Given the description of an element on the screen output the (x, y) to click on. 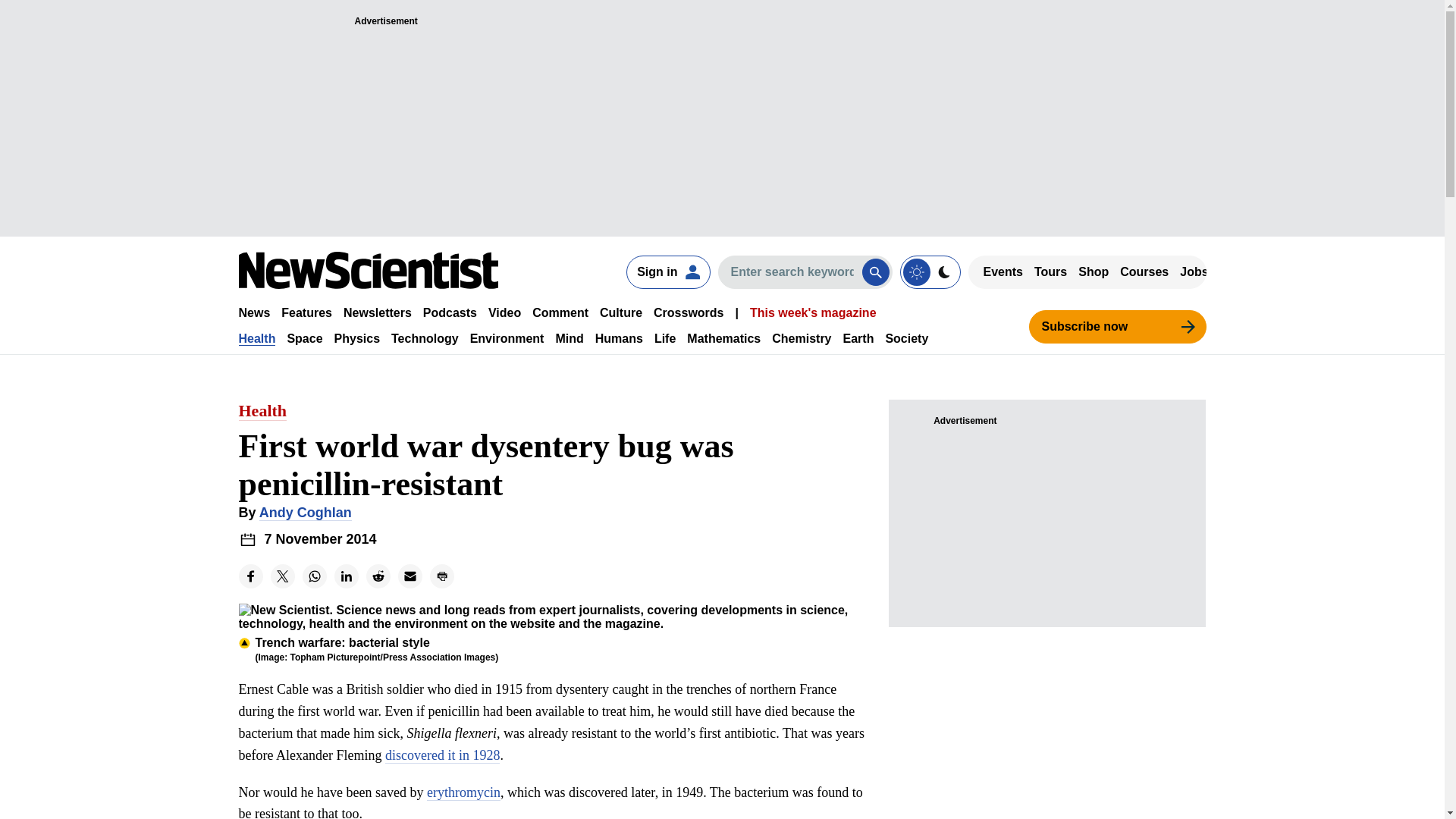
Mind (568, 338)
Mathematics (723, 338)
Technology (424, 338)
News (253, 313)
Video (504, 313)
Culture (620, 313)
on (929, 272)
Link to the homepage (367, 270)
Life (664, 338)
Tours (1050, 272)
